Given the description of an element on the screen output the (x, y) to click on. 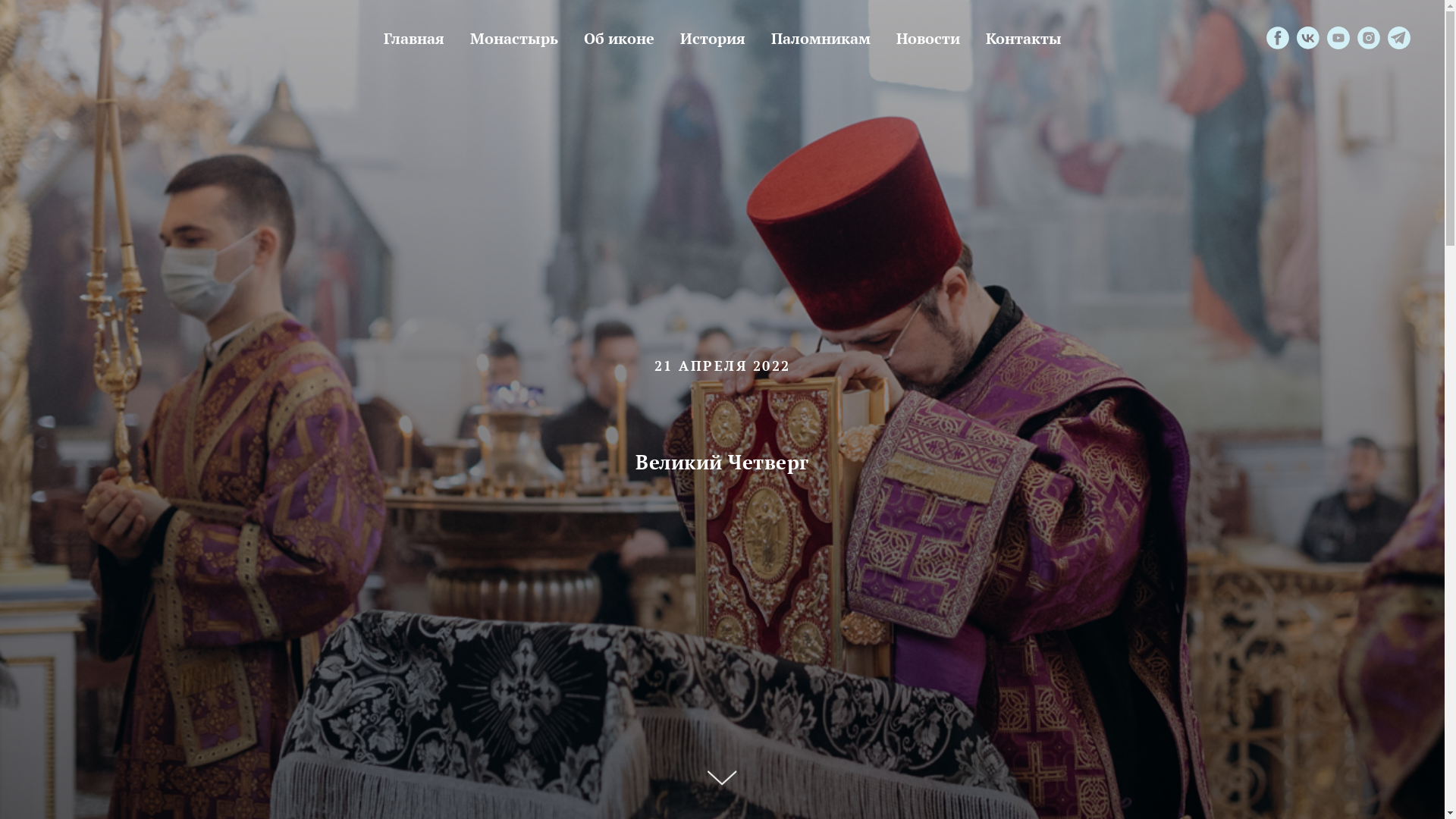
Instagram Element type: text (1368, 37)
Telegram Element type: text (1398, 37)
